Given the description of an element on the screen output the (x, y) to click on. 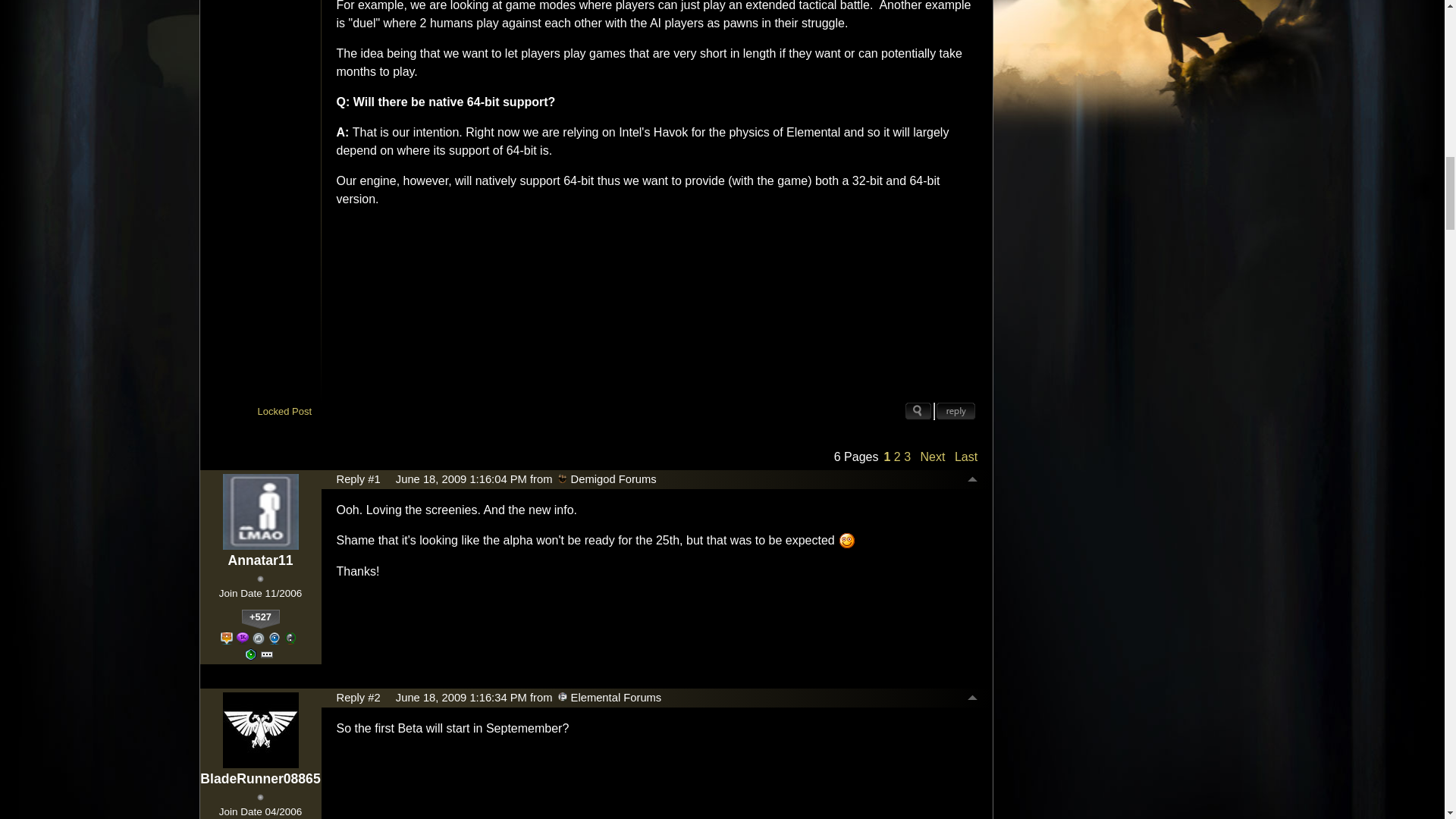
Reply to this post (955, 411)
Click user name to view more options. (259, 560)
Search this post (918, 411)
Rank: 1 (260, 578)
